Given the description of an element on the screen output the (x, y) to click on. 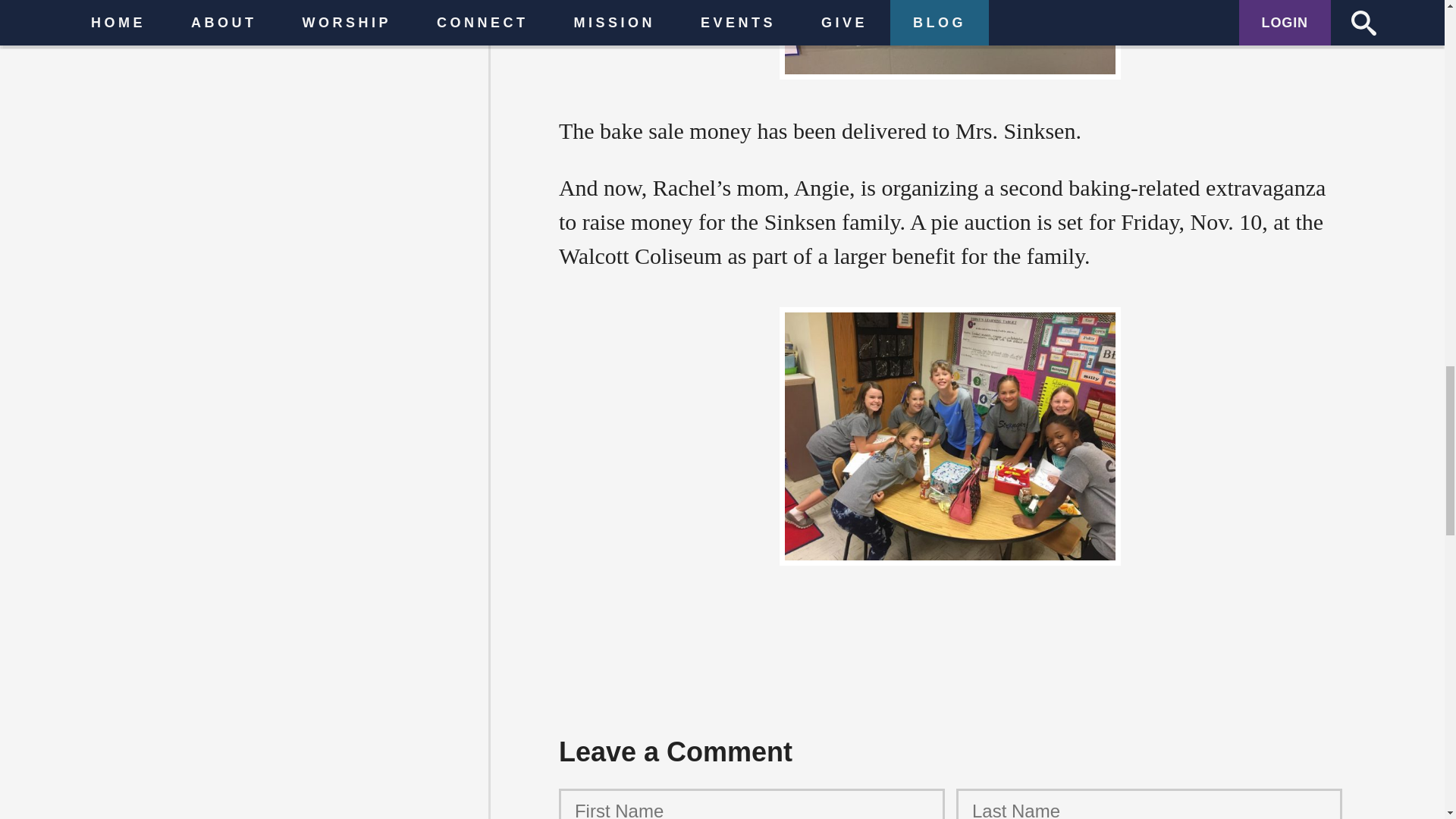
Post Comment (429, 172)
